Given the description of an element on the screen output the (x, y) to click on. 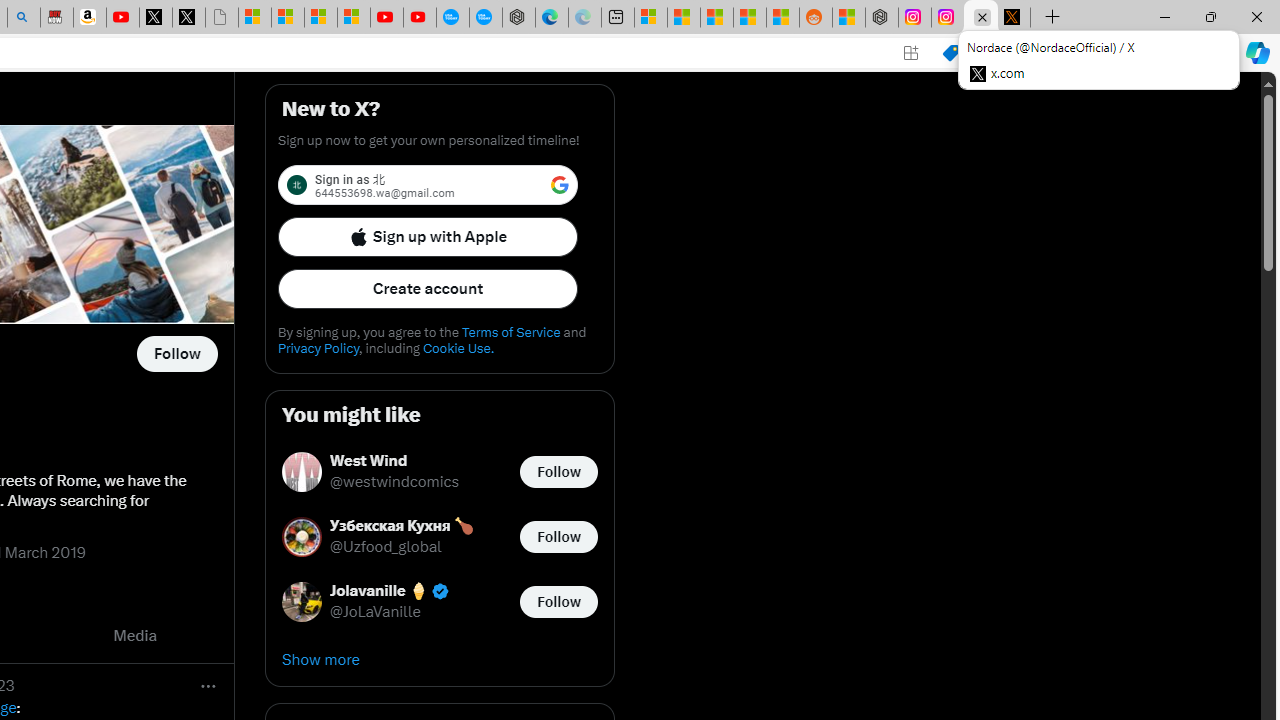
This site has coupons! Shopping in Microsoft Edge (950, 53)
Nordace - Nordace has arrived Hong Kong (519, 17)
Show more (440, 660)
YouTube Kids - An App Created for Kids to Explore Content (420, 17)
Privacy Policy (317, 348)
Shanghai, China hourly forecast | Microsoft Weather (717, 17)
Shanghai, China Weather trends | Microsoft Weather (782, 17)
Terms of Service (510, 331)
Microsoft account | Microsoft Account Privacy Settings (650, 17)
